Given the description of an element on the screen output the (x, y) to click on. 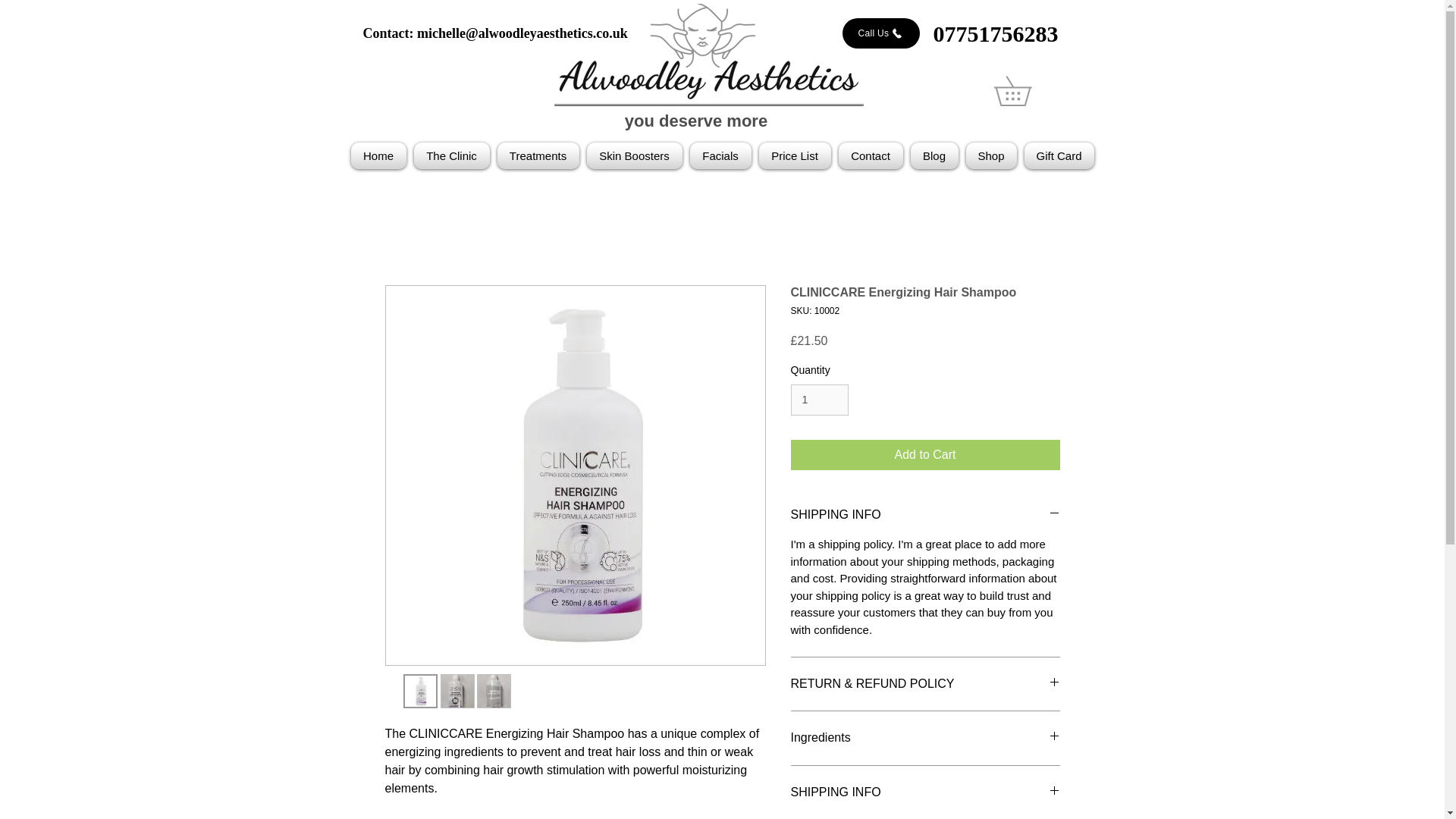
Blog (934, 155)
Call Us (879, 33)
Home (379, 155)
Add to Cart (924, 454)
Ingredients (924, 737)
SHIPPING INFO (924, 791)
The Clinic (451, 155)
SHIPPING INFO (924, 514)
Shop (990, 155)
you deserve more (695, 120)
Price List (794, 155)
Gift Card (1057, 155)
Logo (708, 55)
1 (818, 399)
